Given the description of an element on the screen output the (x, y) to click on. 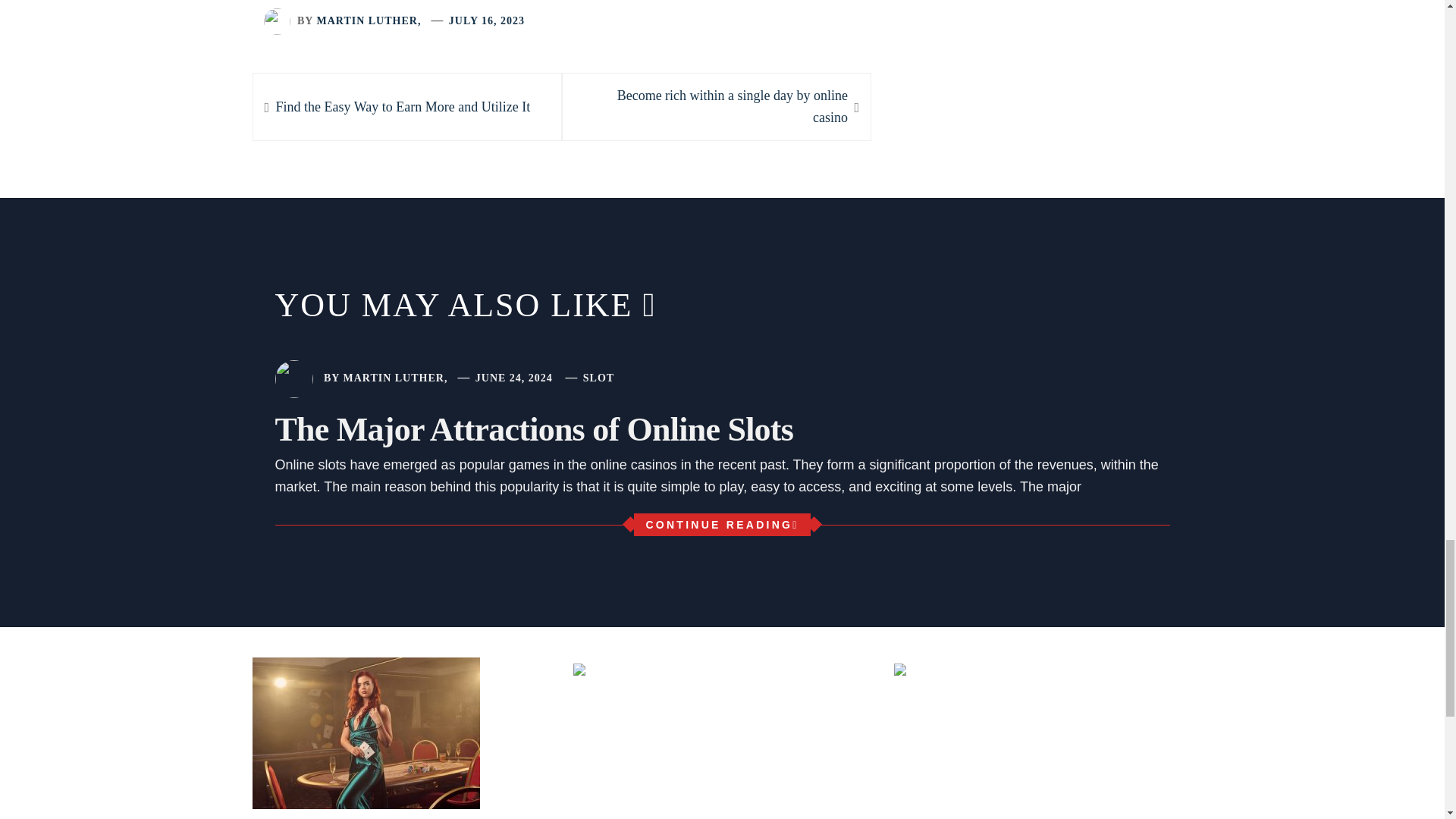
MARTIN LUTHER, (367, 20)
JULY 16, 2023 (716, 106)
